Given the description of an element on the screen output the (x, y) to click on. 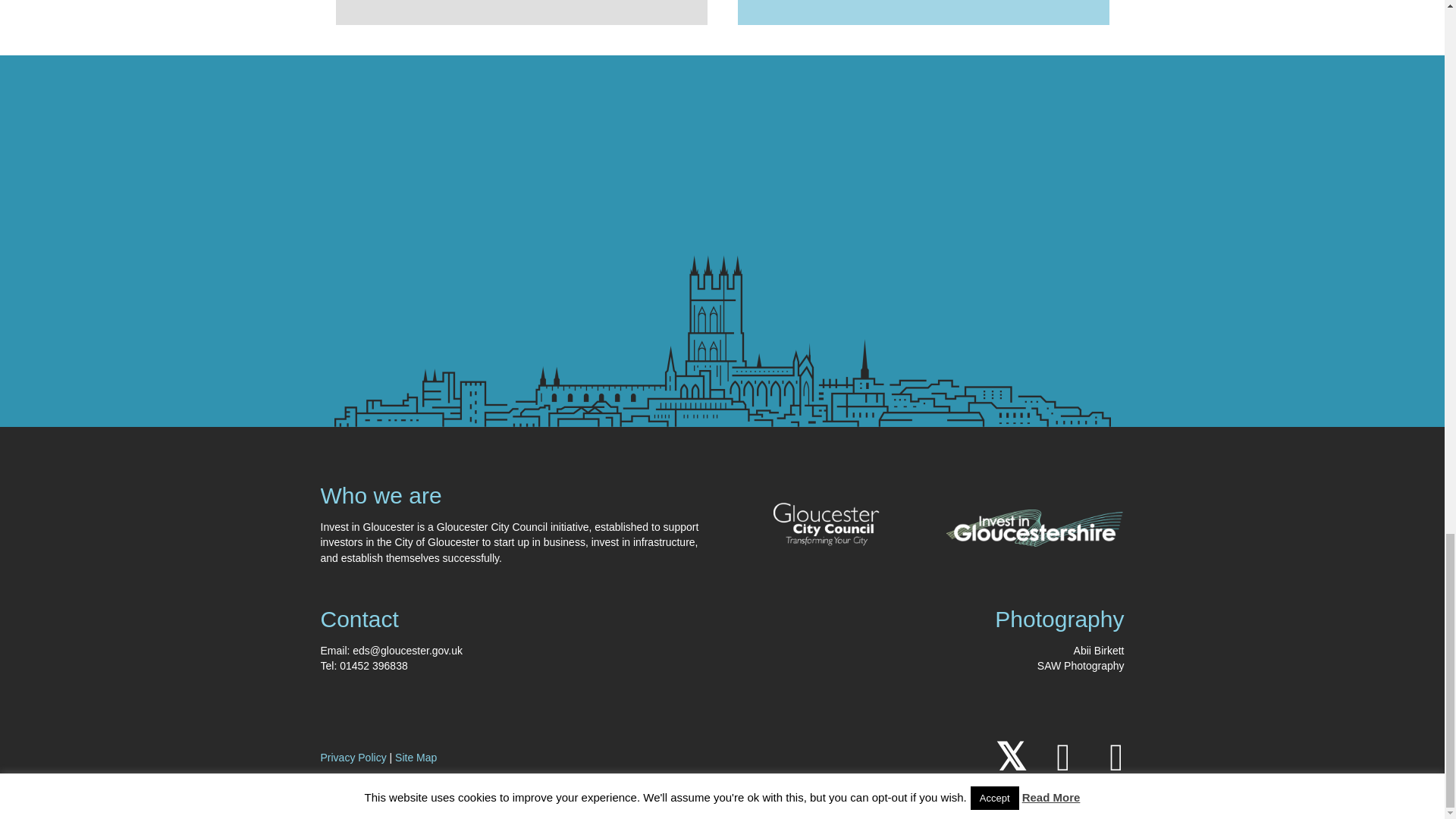
Instagram (1115, 757)
Twitter (1009, 757)
Site Map (415, 757)
LinkedIn (1063, 757)
01452 396838 (373, 665)
SAW Photography (1080, 665)
Privacy Policy (352, 757)
Abii Birkett (1099, 650)
gloucester-city-council-1-w300h300 (825, 509)
Read More (391, 4)
investlogo-w300h300 (1035, 528)
